Given the description of an element on the screen output the (x, y) to click on. 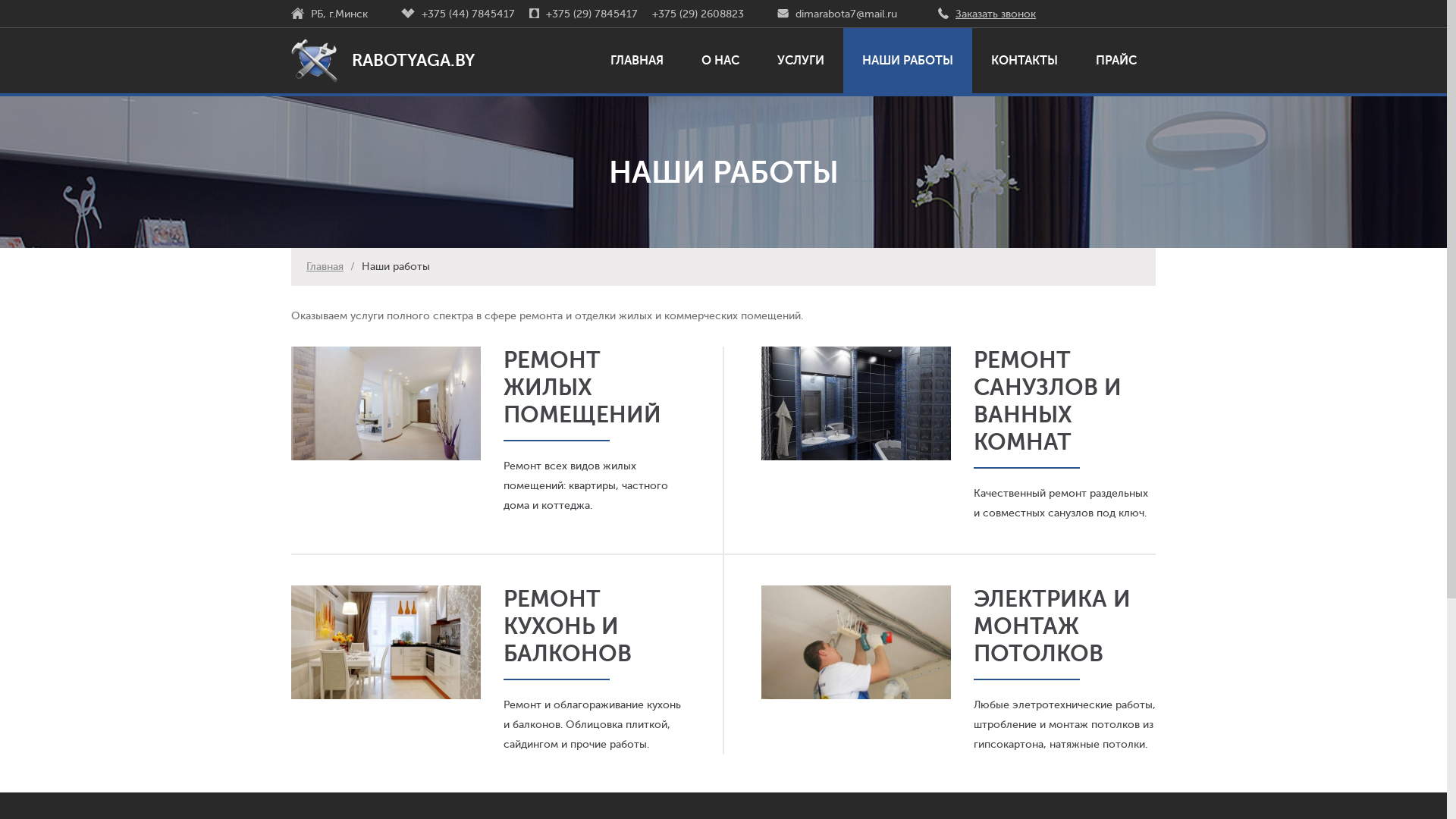
+375 (29) 7845417 Element type: text (591, 13)
+375 (44) 7845417 Element type: text (467, 13)
RABOTYAGA.BY Element type: text (382, 60)
+375 (29) 2608823 Element type: text (697, 13)
